Given the description of an element on the screen output the (x, y) to click on. 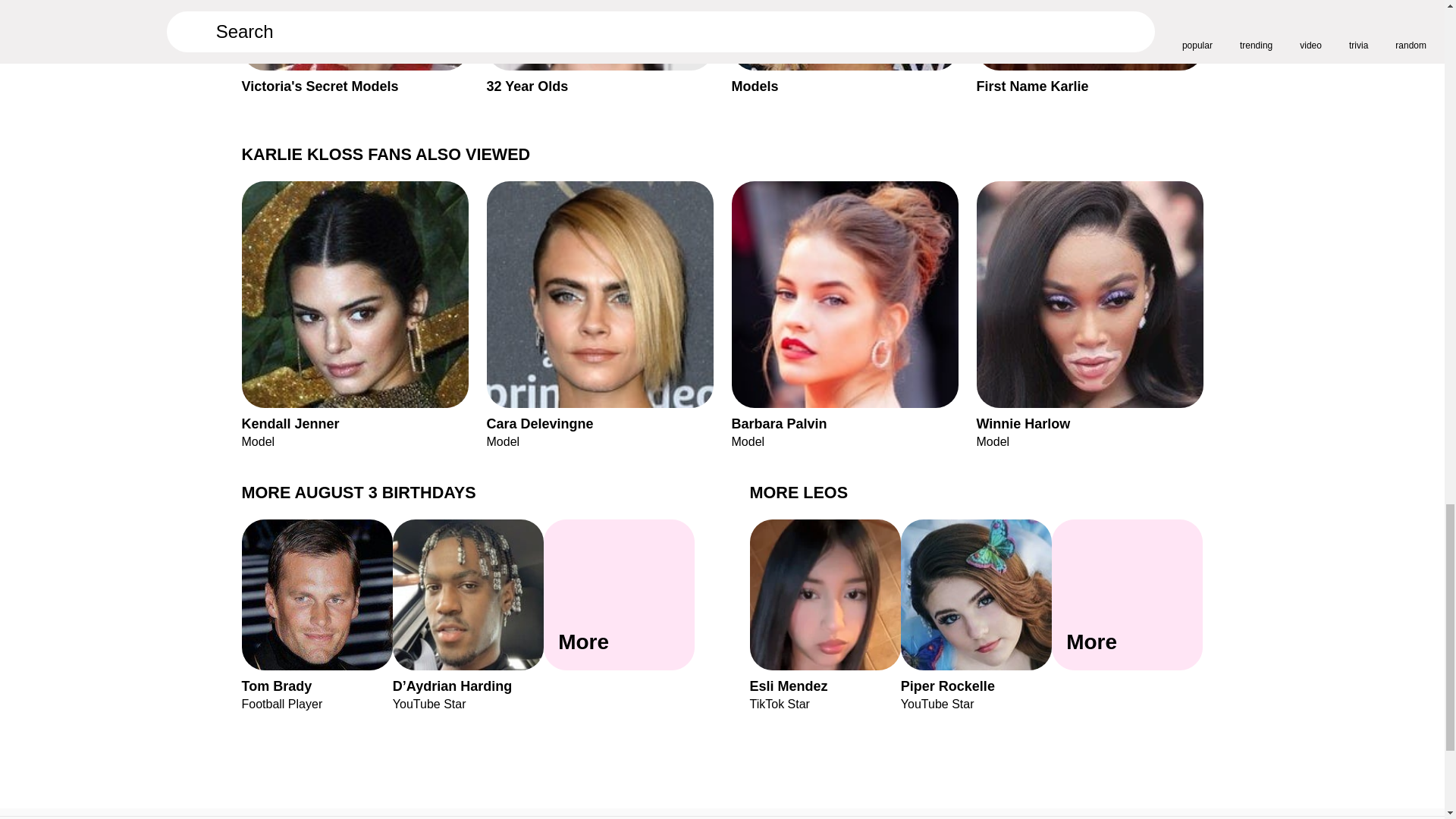
32 Year Olds (599, 47)
MORE AUGUST 3 BIRTHDAYS (358, 492)
Victoria's Secret Models (354, 47)
Models (844, 47)
First Name Karlie (1090, 47)
